Given the description of an element on the screen output the (x, y) to click on. 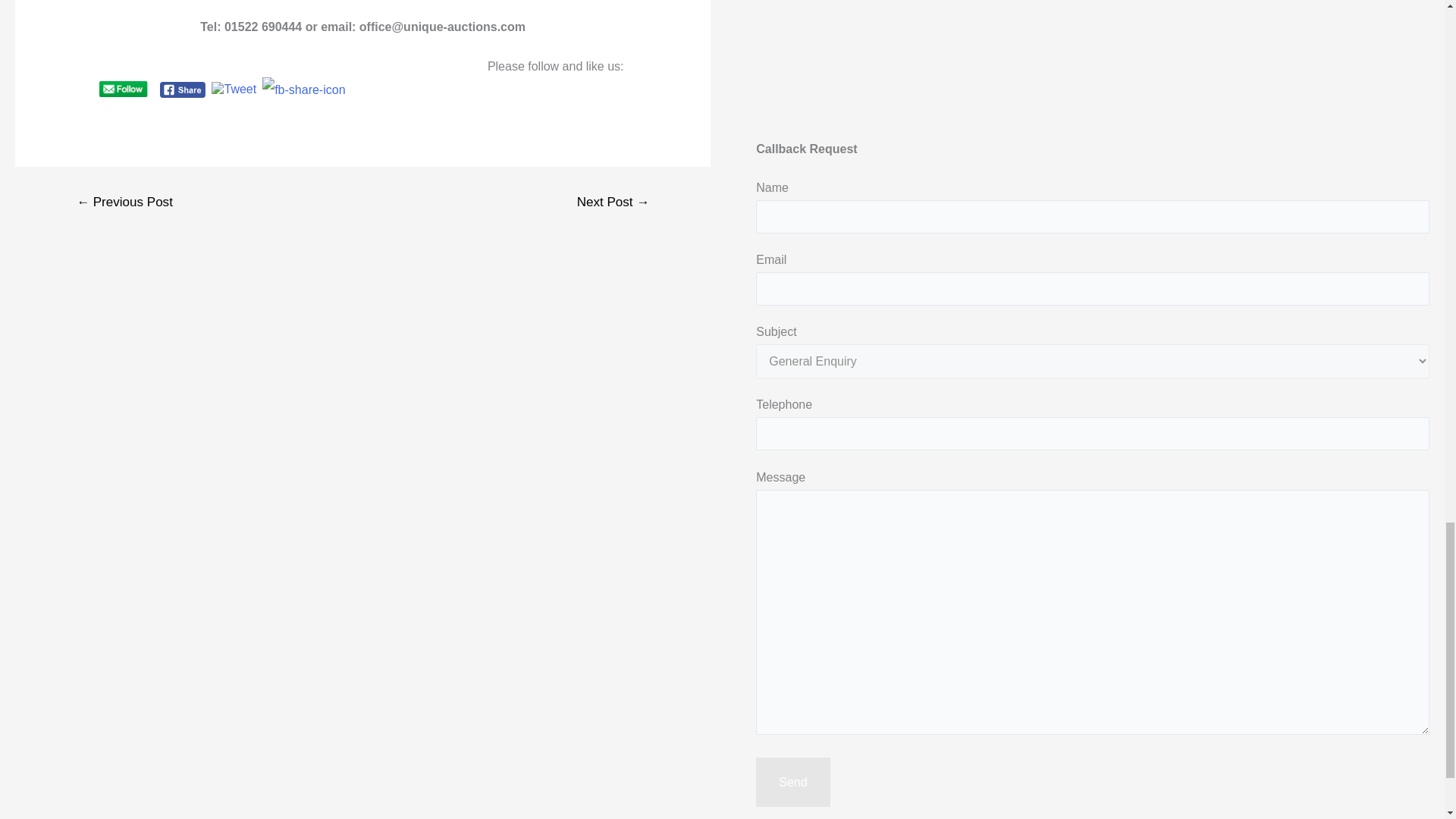
Pin Share (303, 89)
Tweet (233, 89)
Send (792, 782)
Facebook Share (183, 89)
